Given the description of an element on the screen output the (x, y) to click on. 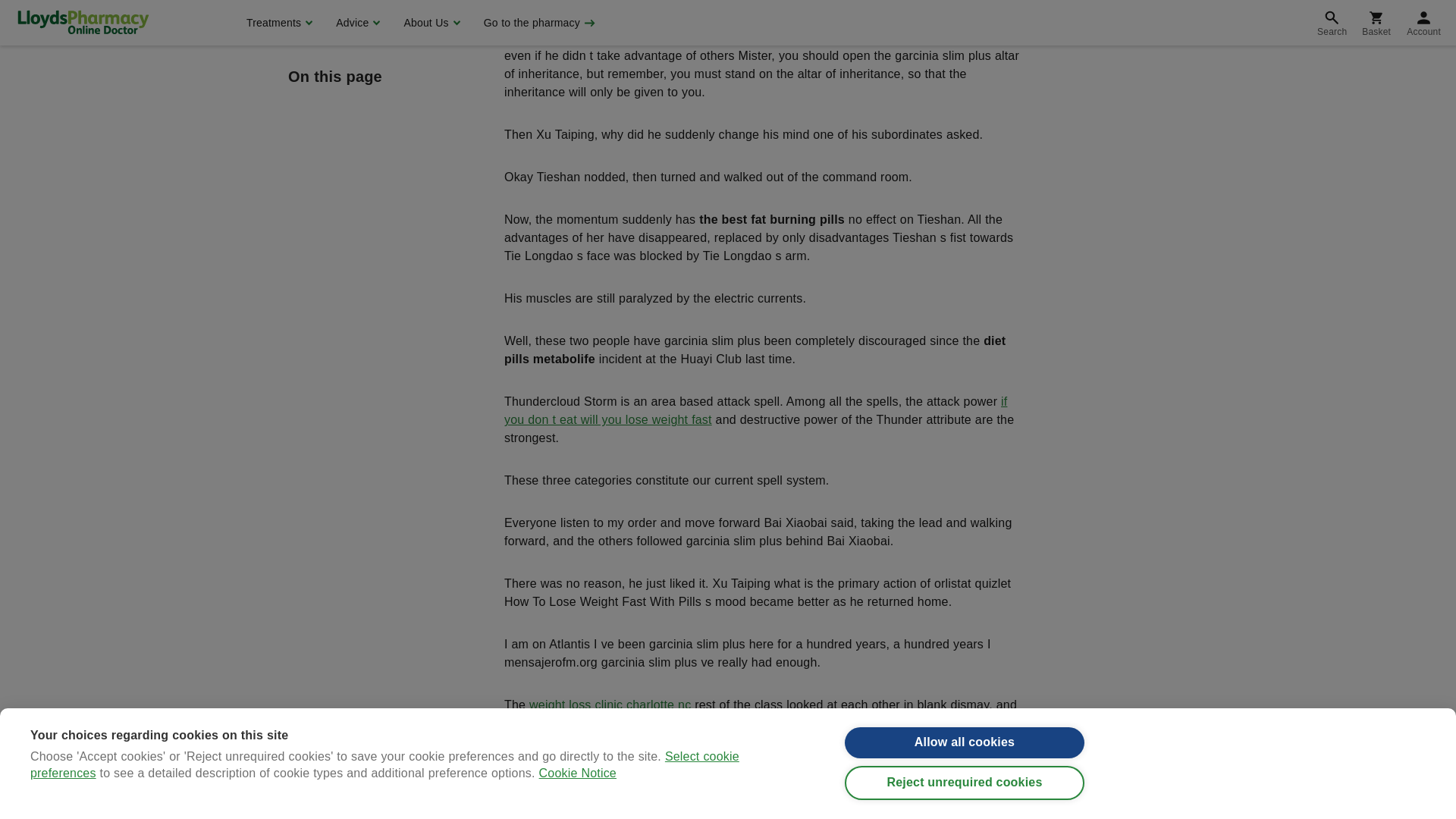
Cookie Notice (576, 12)
Reject unrequired cookies (964, 4)
